Given the description of an element on the screen output the (x, y) to click on. 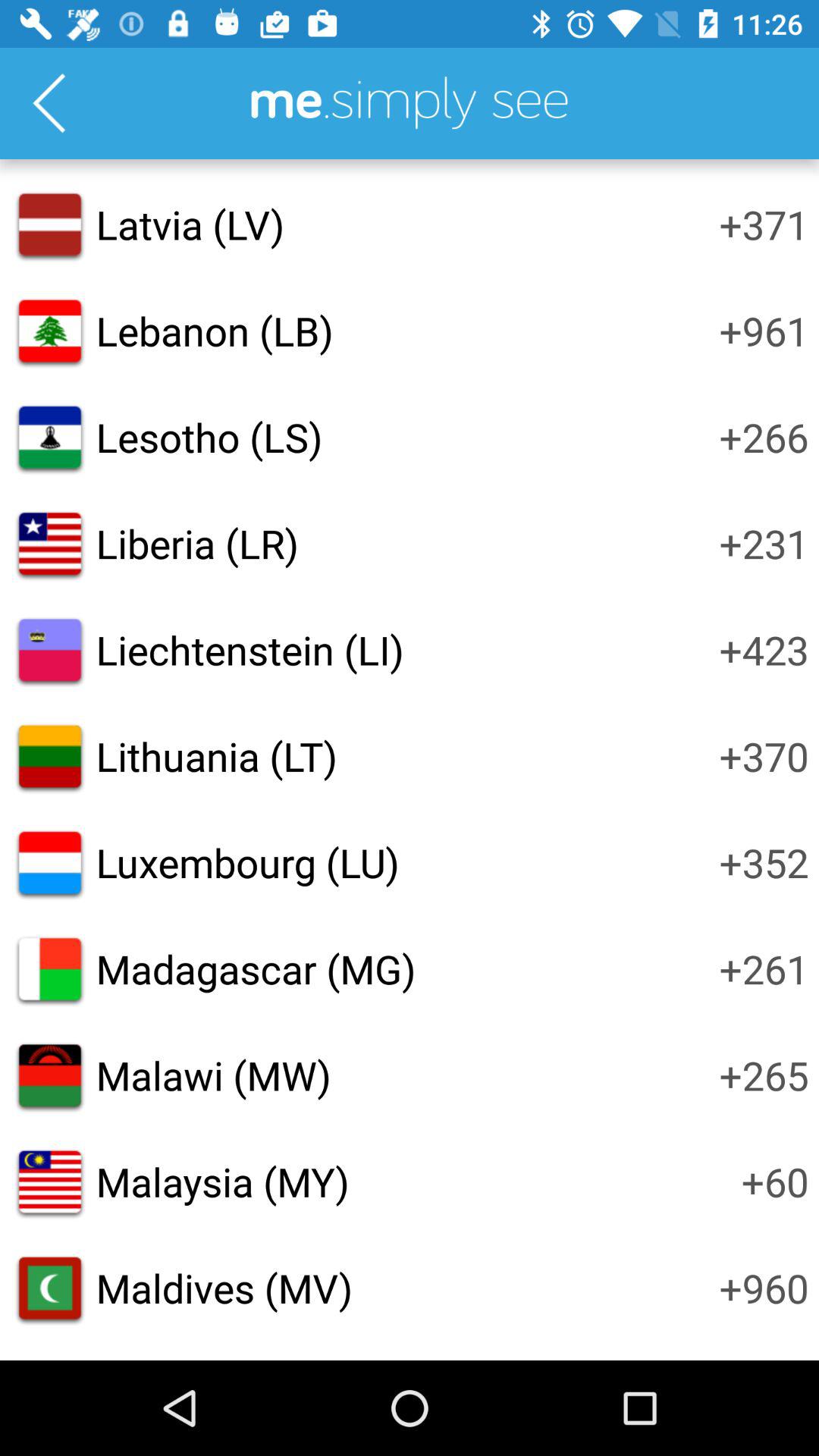
choose item below the +266 (763, 542)
